Given the description of an element on the screen output the (x, y) to click on. 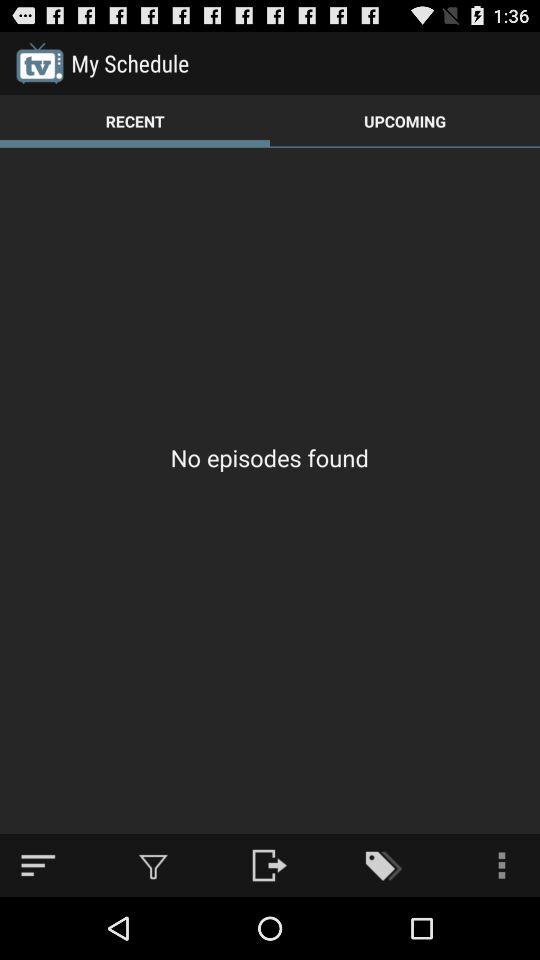
select the upcoming item (405, 120)
